Given the description of an element on the screen output the (x, y) to click on. 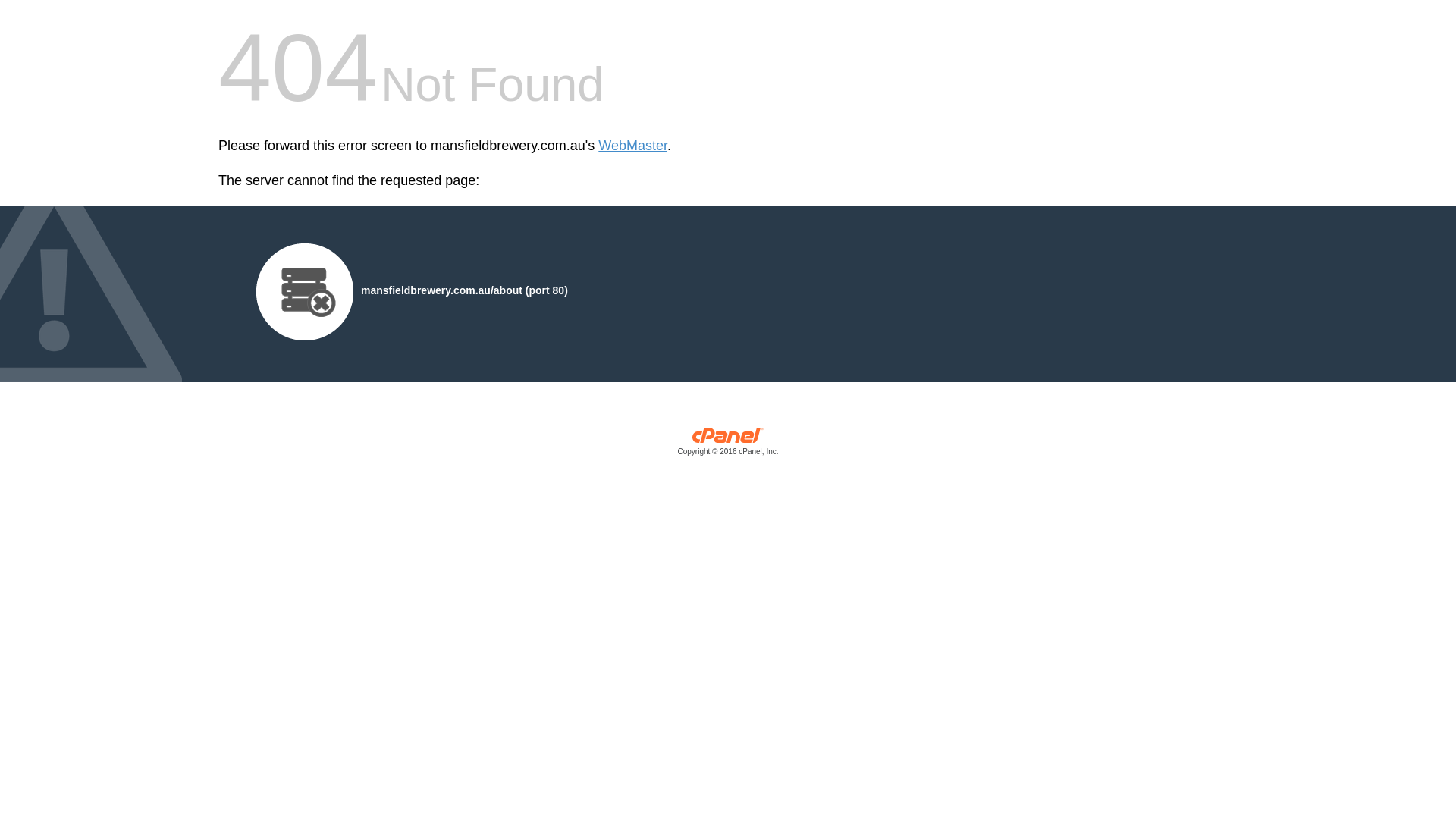
WebMaster Element type: text (632, 145)
